Given the description of an element on the screen output the (x, y) to click on. 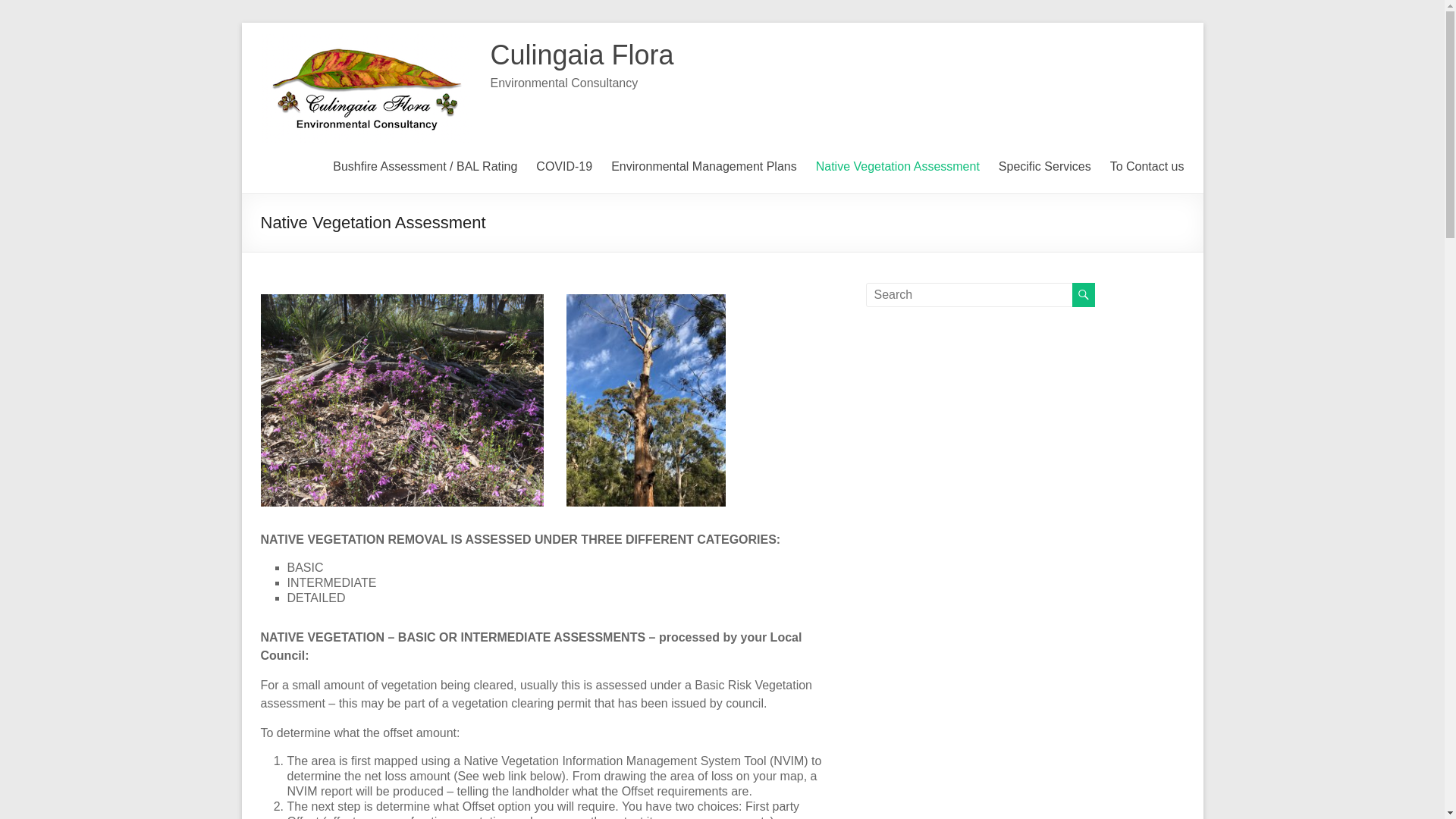
COVID-19 Element type: text (564, 164)
Specific Services Element type: text (1044, 164)
Native Vegetation Assessment Element type: text (897, 164)
Culingaia Flora Element type: hover (367, 40)
Search Element type: text (38, 11)
To Contact us Element type: text (1147, 164)
Environmental Management Plans Element type: text (704, 164)
Culingaia Flora Element type: text (581, 54)
Bushfire Assessment / BAL Rating Element type: text (424, 164)
